Given the description of an element on the screen output the (x, y) to click on. 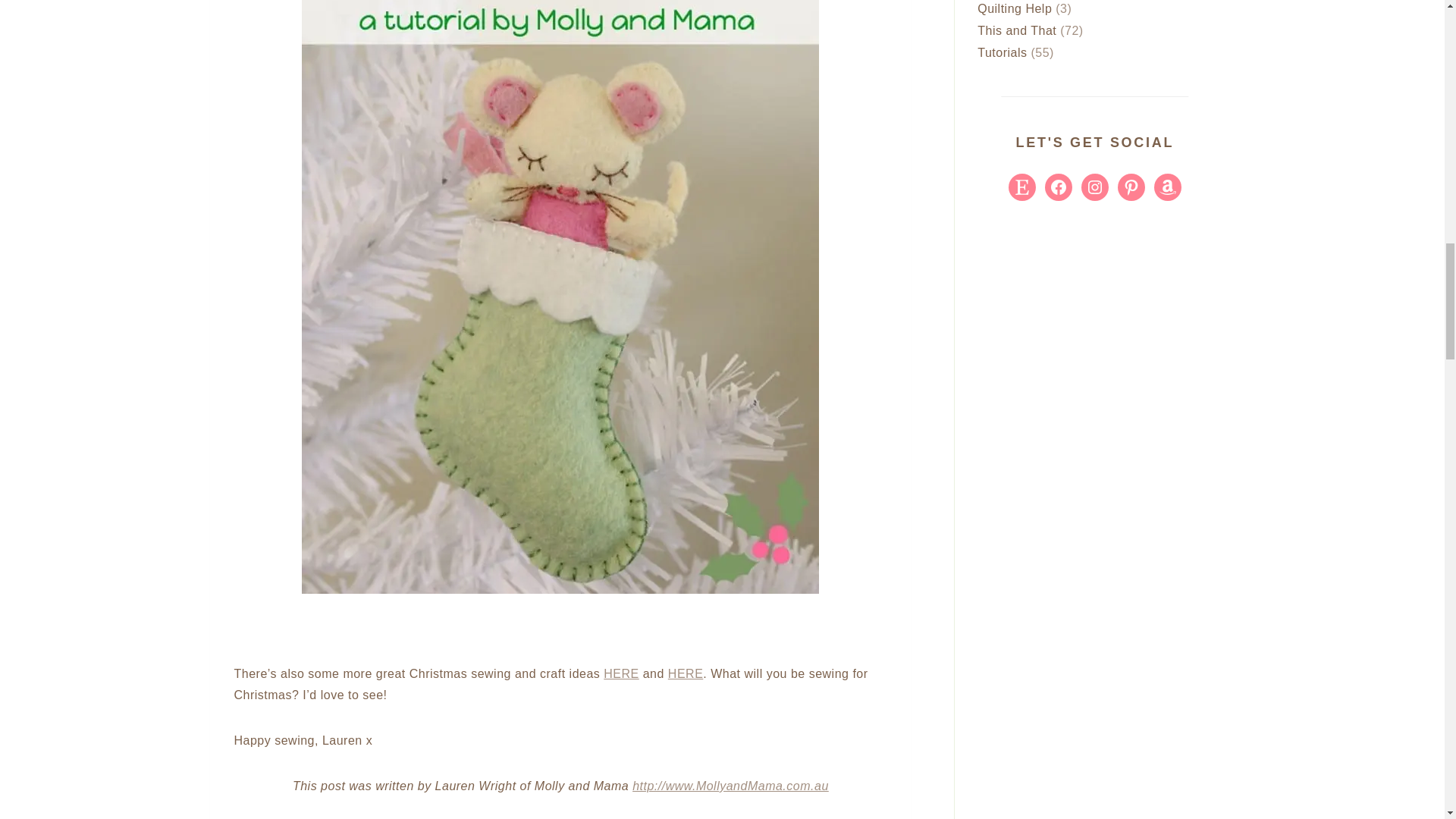
Make these Simple Christmas Crafts with the Kids (685, 673)
Make Easy Christmas Decorations and Cards (621, 673)
HERE (621, 673)
HERE (685, 673)
